Given the description of an element on the screen output the (x, y) to click on. 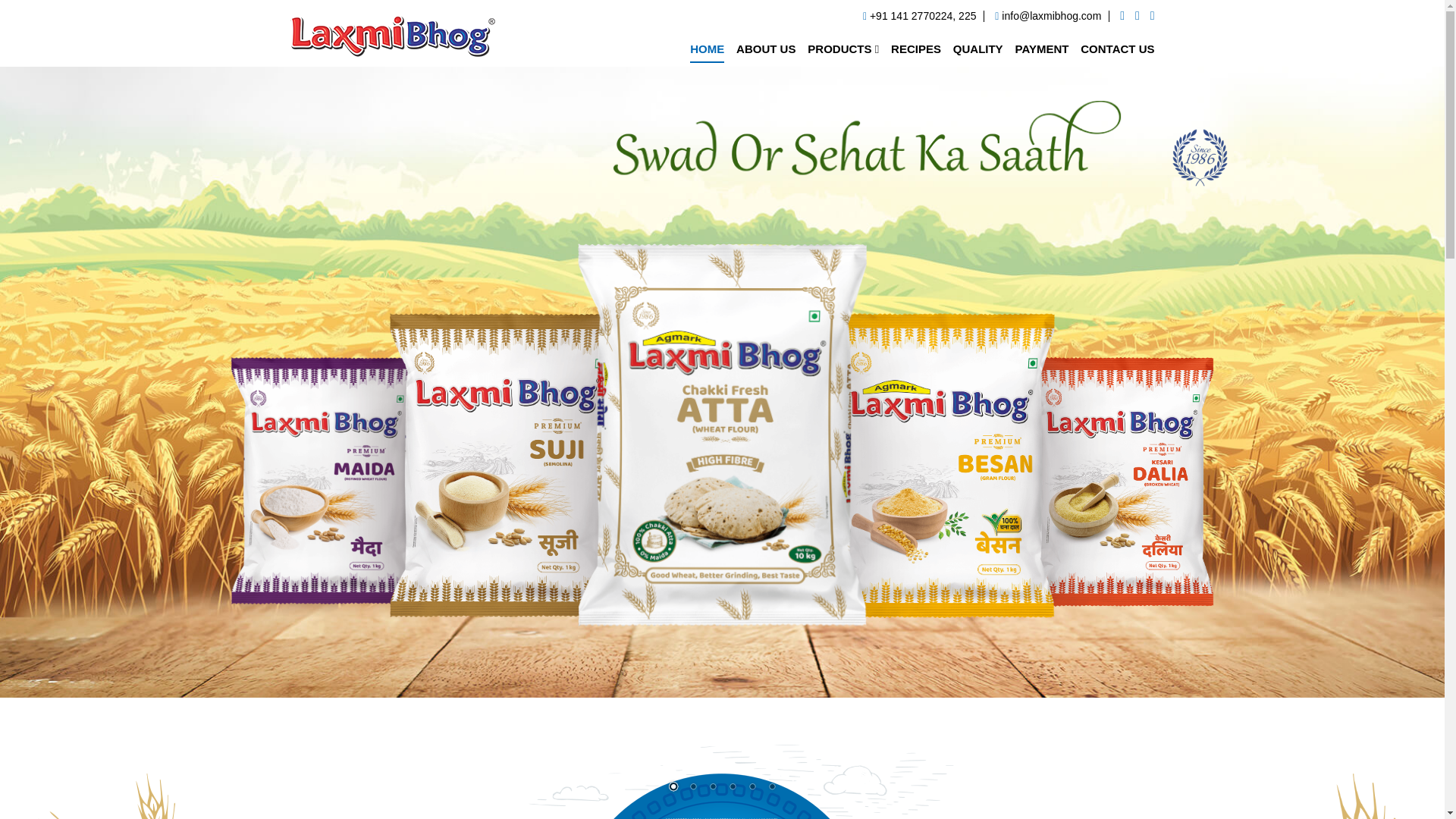
ABOUT US (765, 48)
3 (711, 787)
PRODUCTS (843, 48)
2 (692, 787)
QUALITY (978, 48)
6 (770, 787)
RECIPES (915, 48)
CONTACT US (1117, 48)
HOME (706, 49)
PAYMENT (1041, 48)
5 (751, 787)
1 (672, 787)
4 (731, 787)
